Given the description of an element on the screen output the (x, y) to click on. 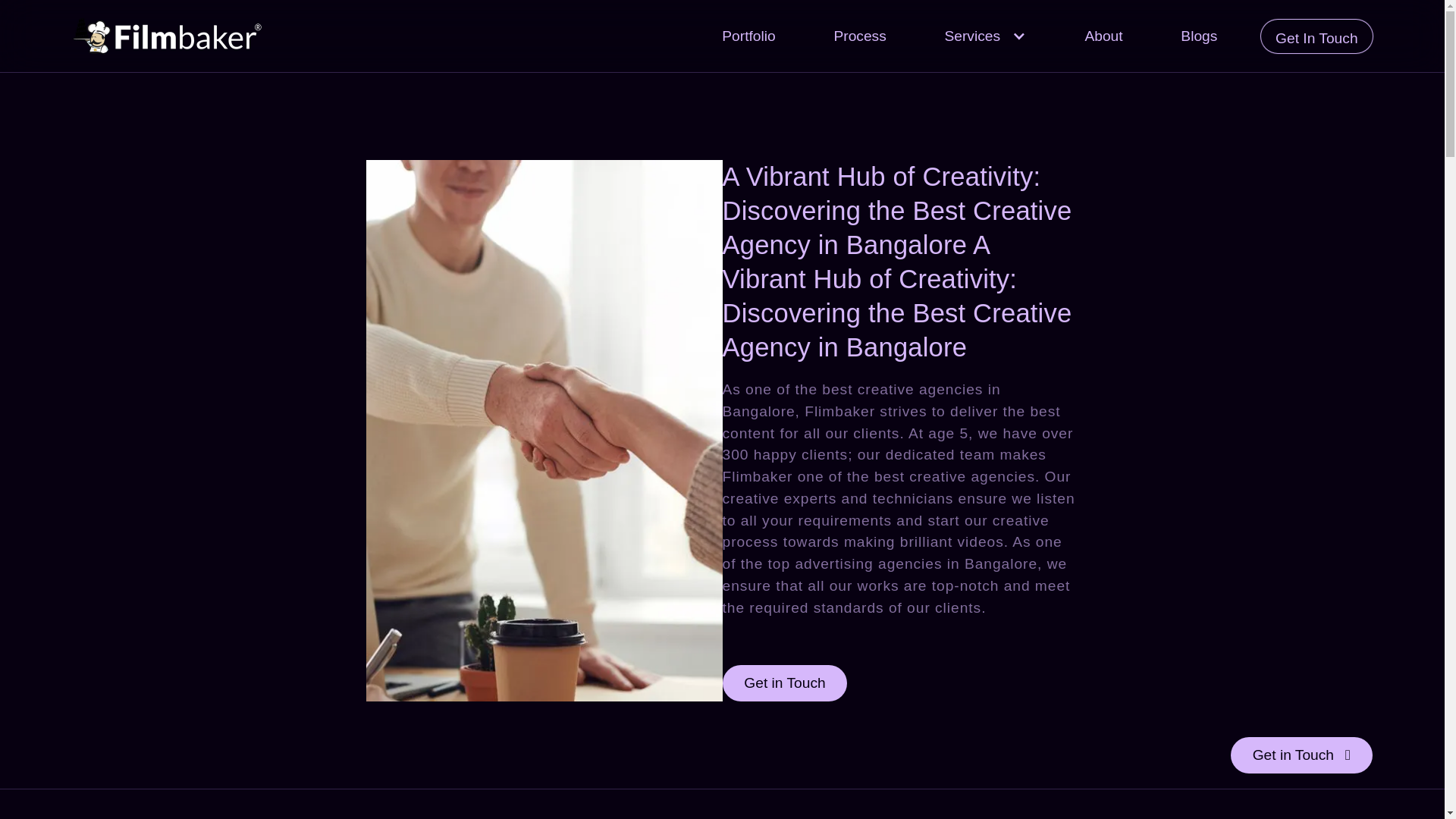
Portfolio (748, 36)
About (1103, 36)
Process (859, 36)
Get In Touch (1316, 35)
Blogs (1198, 36)
Get in Touch (784, 683)
